Given the description of an element on the screen output the (x, y) to click on. 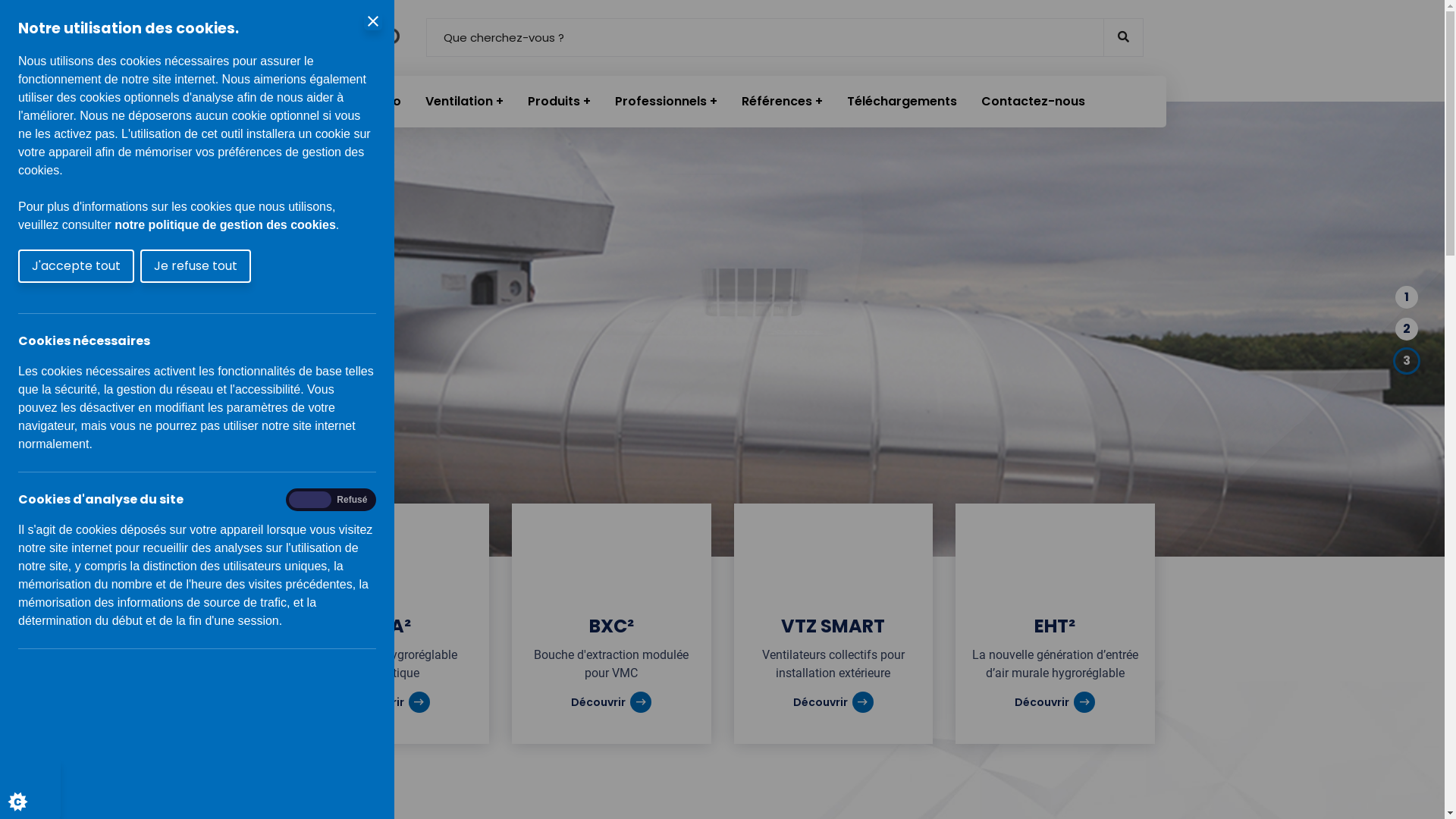
+33 1 60 06 26 63 Element type: text (972, 501)
Aereco Element type: hover (341, 37)
notre politique de gestion des cookies Element type: text (224, 224)
Contactez-nous Element type: text (1063, 712)
Tertiaire Element type: text (722, 485)
Produits Element type: text (558, 101)
Ventilateurs Element type: text (601, 504)
Plan du site Element type: text (380, 712)
Ventilation Element type: text (463, 101)
service.clients@aereco.com Element type: text (999, 526)
Aereco Element type: text (378, 101)
Contactez-nous Element type: text (1033, 101)
Ajicreative Element type: text (865, 794)
Double flux Element type: text (729, 465)
J'accepte tout Element type: text (76, 265)
Je refuse tout Element type: text (195, 265)
Professionnels Element type: text (665, 101)
Voir plus Element type: text (342, 358)
